Given the description of an element on the screen output the (x, y) to click on. 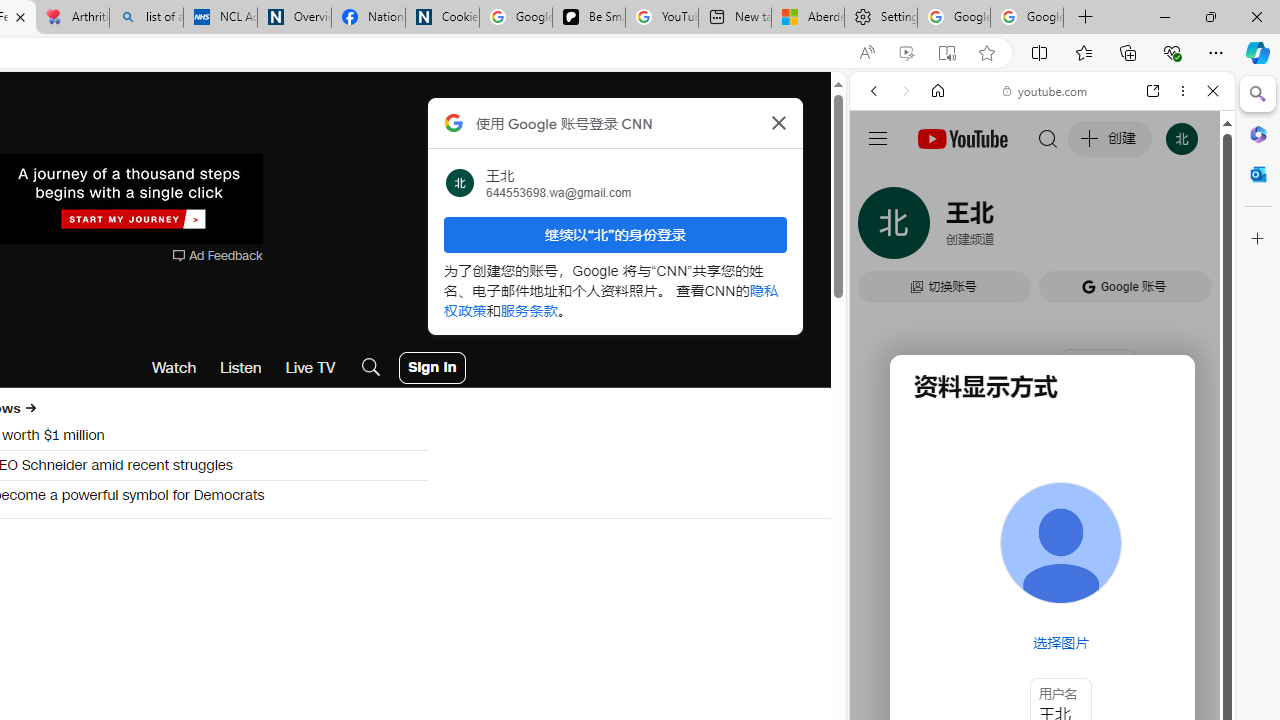
This site scope (936, 180)
Google (1042, 494)
youtube.com (1046, 90)
Enter Immersive Reader (F9) (946, 53)
